Given the description of an element on the screen output the (x, y) to click on. 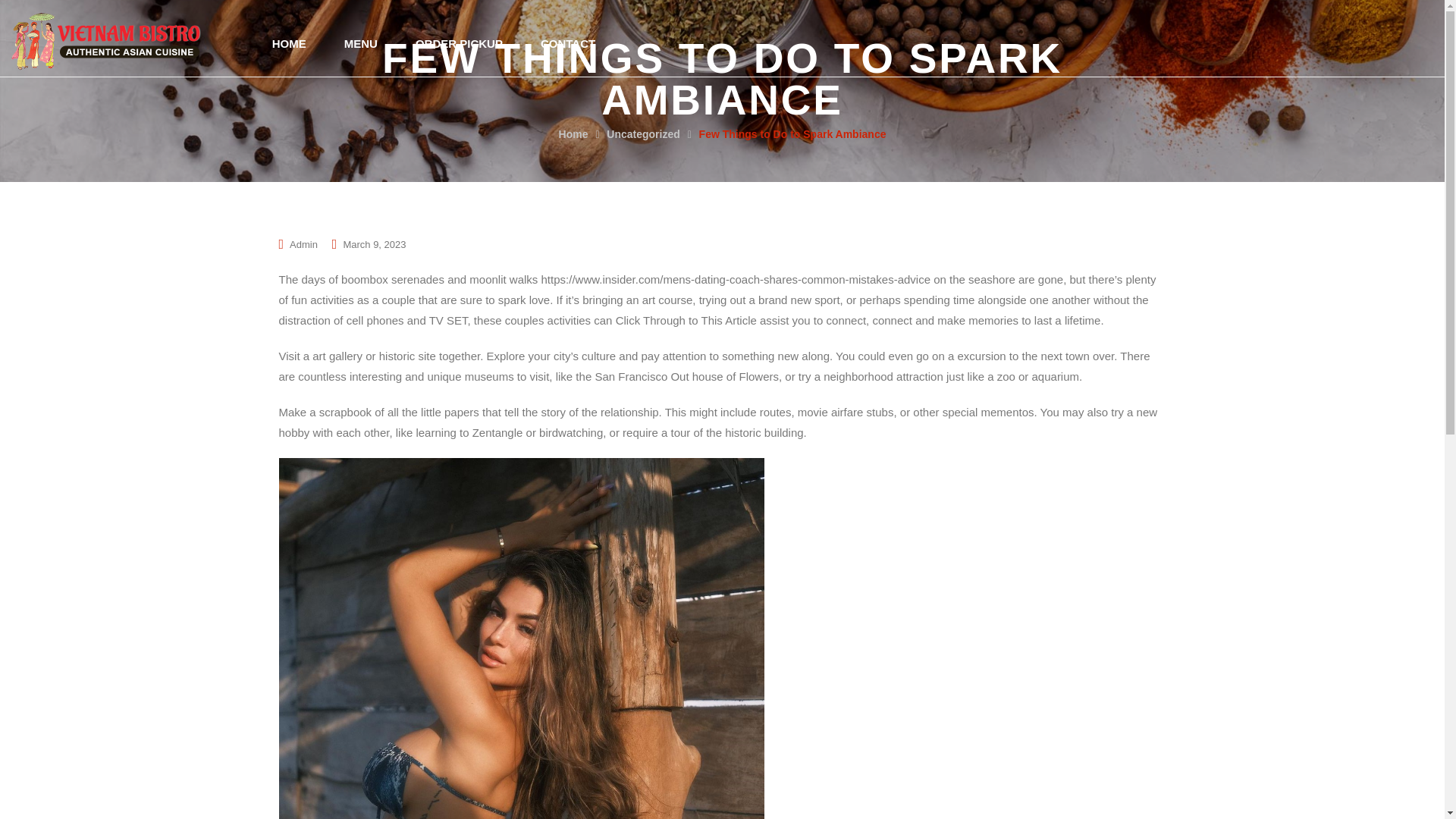
CONTACT (567, 42)
HOME (288, 42)
Uncategorized (643, 133)
Click Through to This Article (686, 319)
Home (573, 133)
Admin (303, 244)
Uncategorized (643, 133)
MENU (360, 42)
ORDER PICKUP (458, 42)
